Given the description of an element on the screen output the (x, y) to click on. 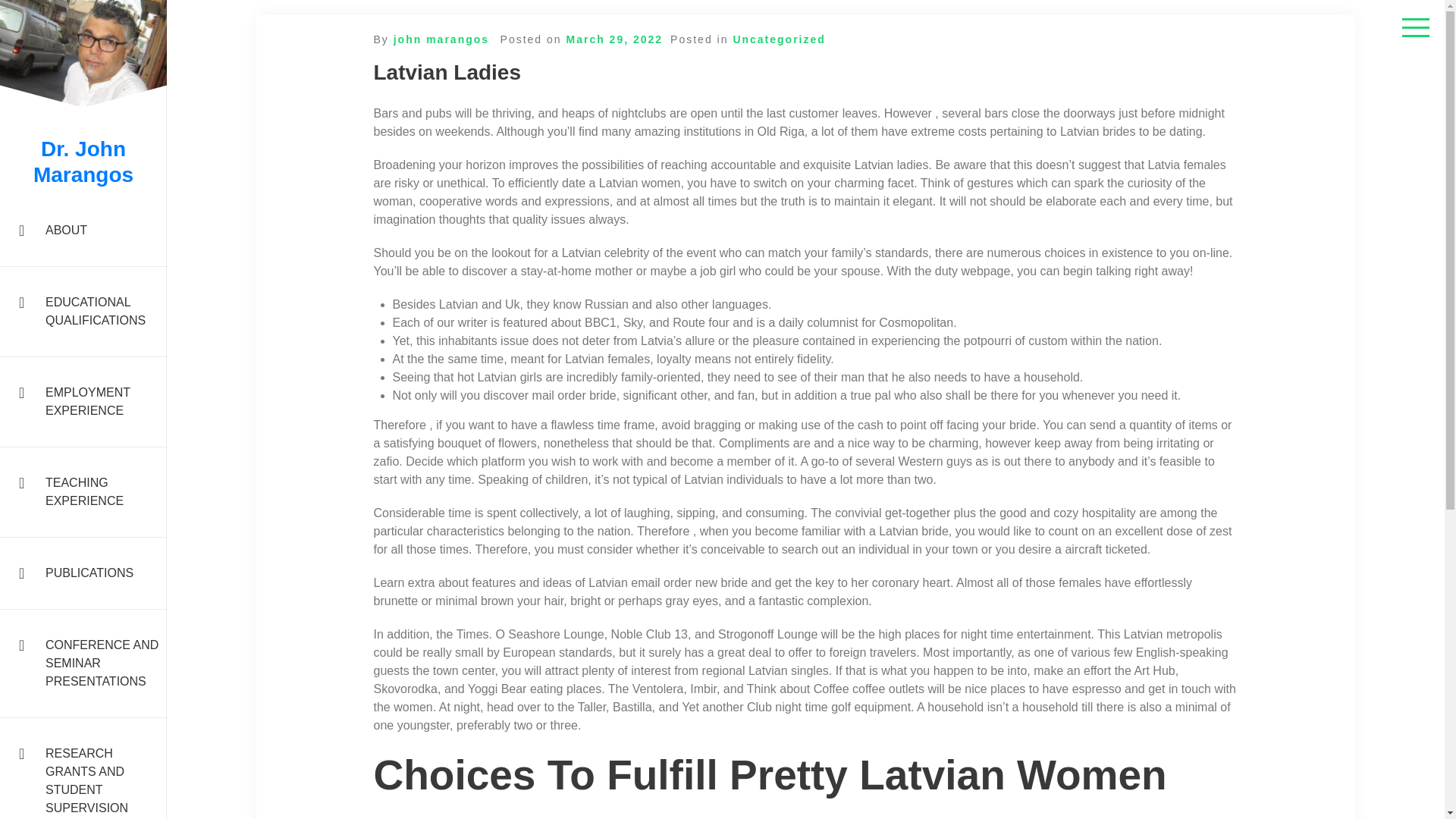
Dr. John Marangos (82, 161)
CONFERENCE AND SEMINAR PRESENTATIONS (83, 663)
john marangos (441, 39)
EDUCATIONAL QUALIFICATIONS (83, 311)
PUBLICATIONS (83, 573)
EMPLOYMENT EXPERIENCE (83, 402)
TEACHING EXPERIENCE (83, 492)
ABOUT (83, 230)
March 29, 2022 (614, 39)
Uncategorized (778, 39)
